Given the description of an element on the screen output the (x, y) to click on. 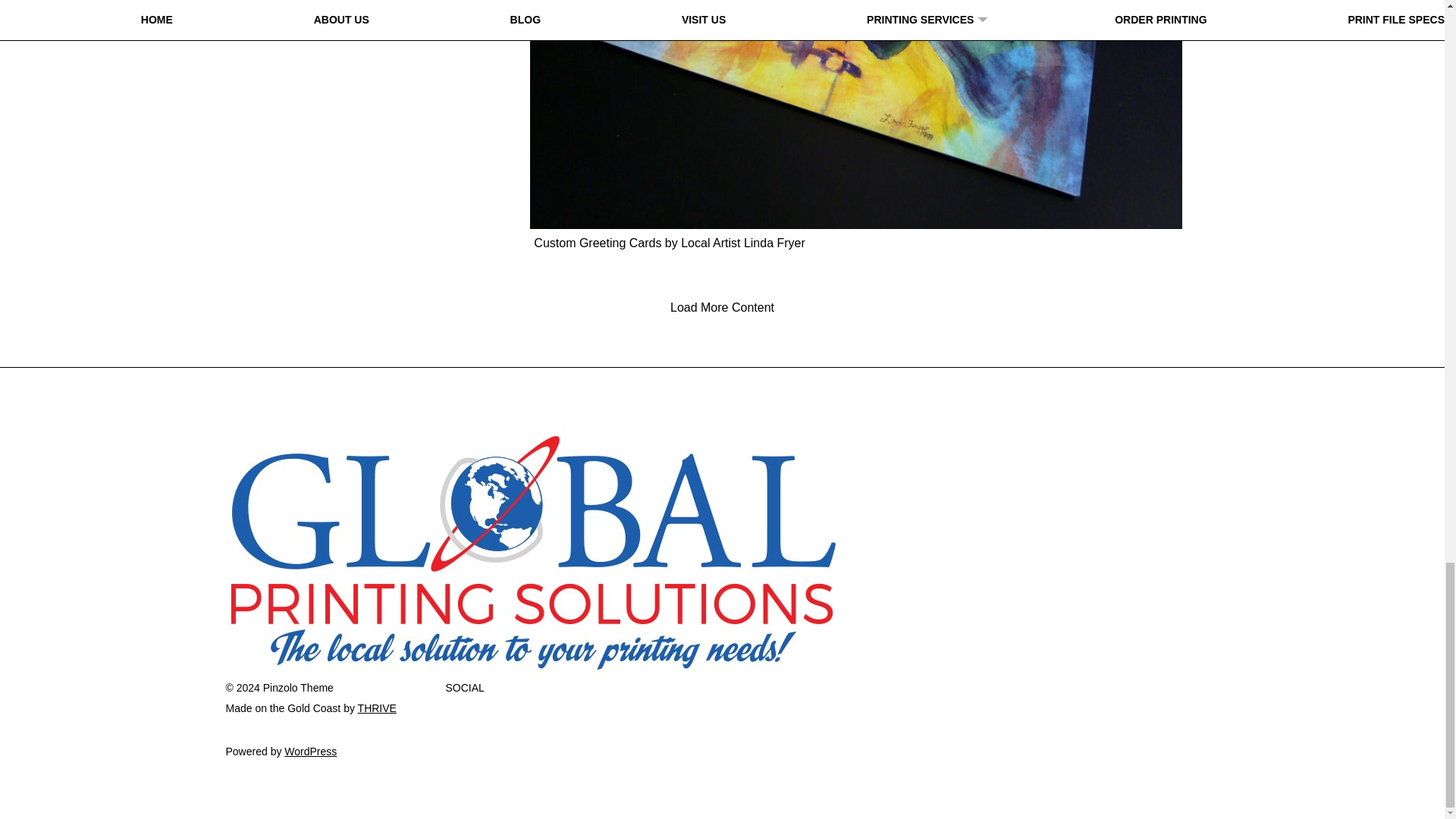
WordPress (309, 751)
